Given the description of an element on the screen output the (x, y) to click on. 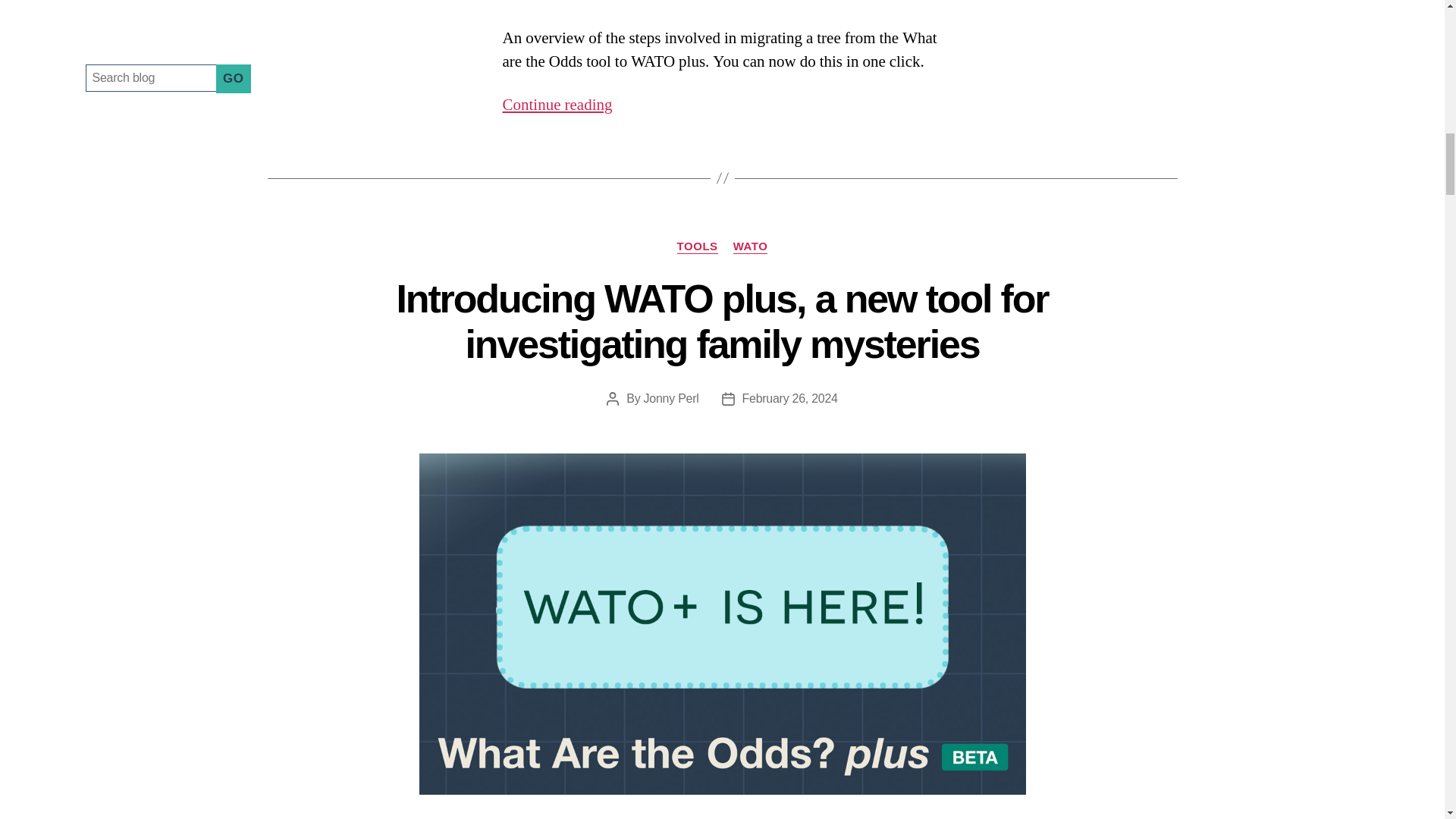
Continue reading (556, 105)
Jonny Perl (670, 398)
TOOLS (697, 246)
February 26, 2024 (790, 398)
WATO (750, 246)
